Given the description of an element on the screen output the (x, y) to click on. 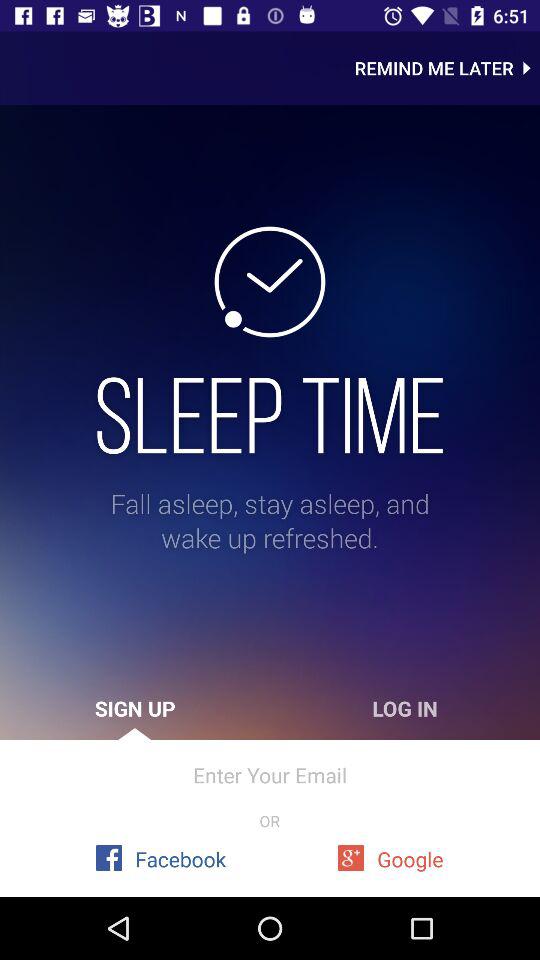
open the remind me later icon (447, 67)
